Given the description of an element on the screen output the (x, y) to click on. 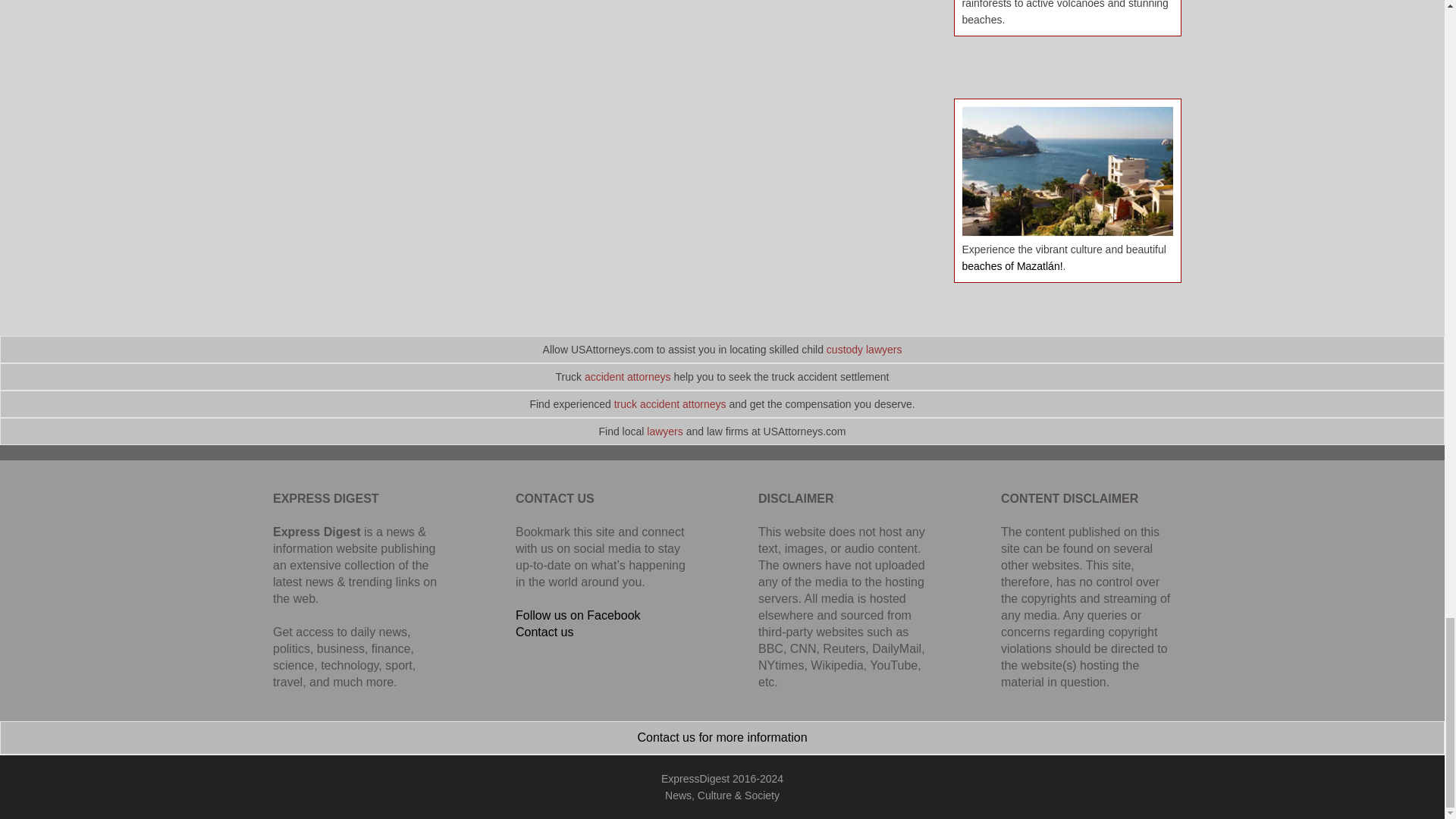
lawyers (664, 431)
accident attorneys (628, 377)
truck accident attorneys (670, 404)
custody lawyers (864, 349)
